Given the description of an element on the screen output the (x, y) to click on. 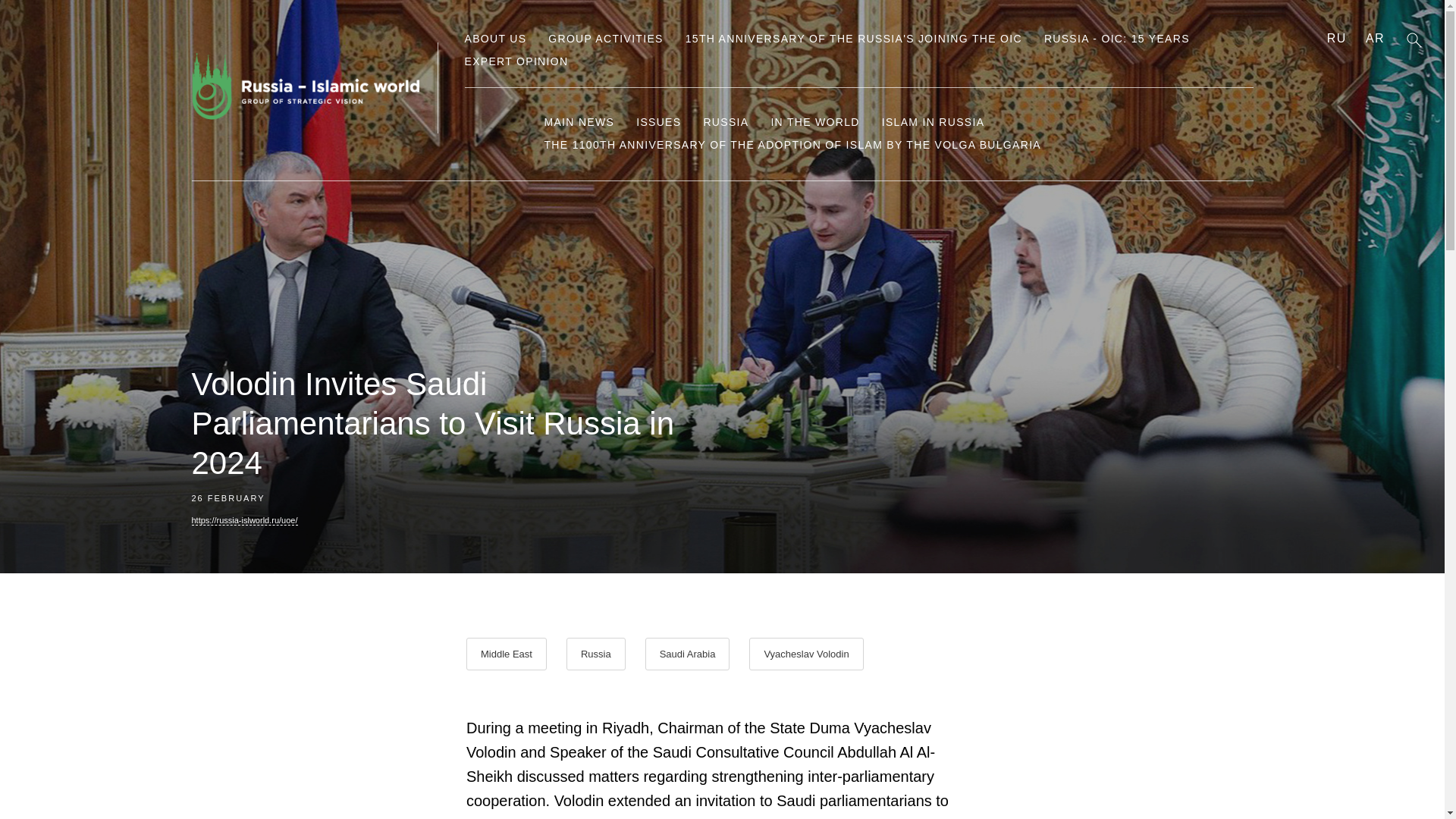
RUSSIA (725, 121)
RUSSIA - OIC: 15 YEARS (1116, 38)
GROUP ACTIVITIES (605, 38)
ABOUT US (494, 38)
IN THE WORLD (814, 121)
ISLAM IN RUSSIA (933, 121)
15TH ANNIVERSARY OF THE RUSSIA'S JOINING THE OIC (853, 38)
EXPERT OPINION (515, 61)
MAIN NEWS (579, 121)
